Given the description of an element on the screen output the (x, y) to click on. 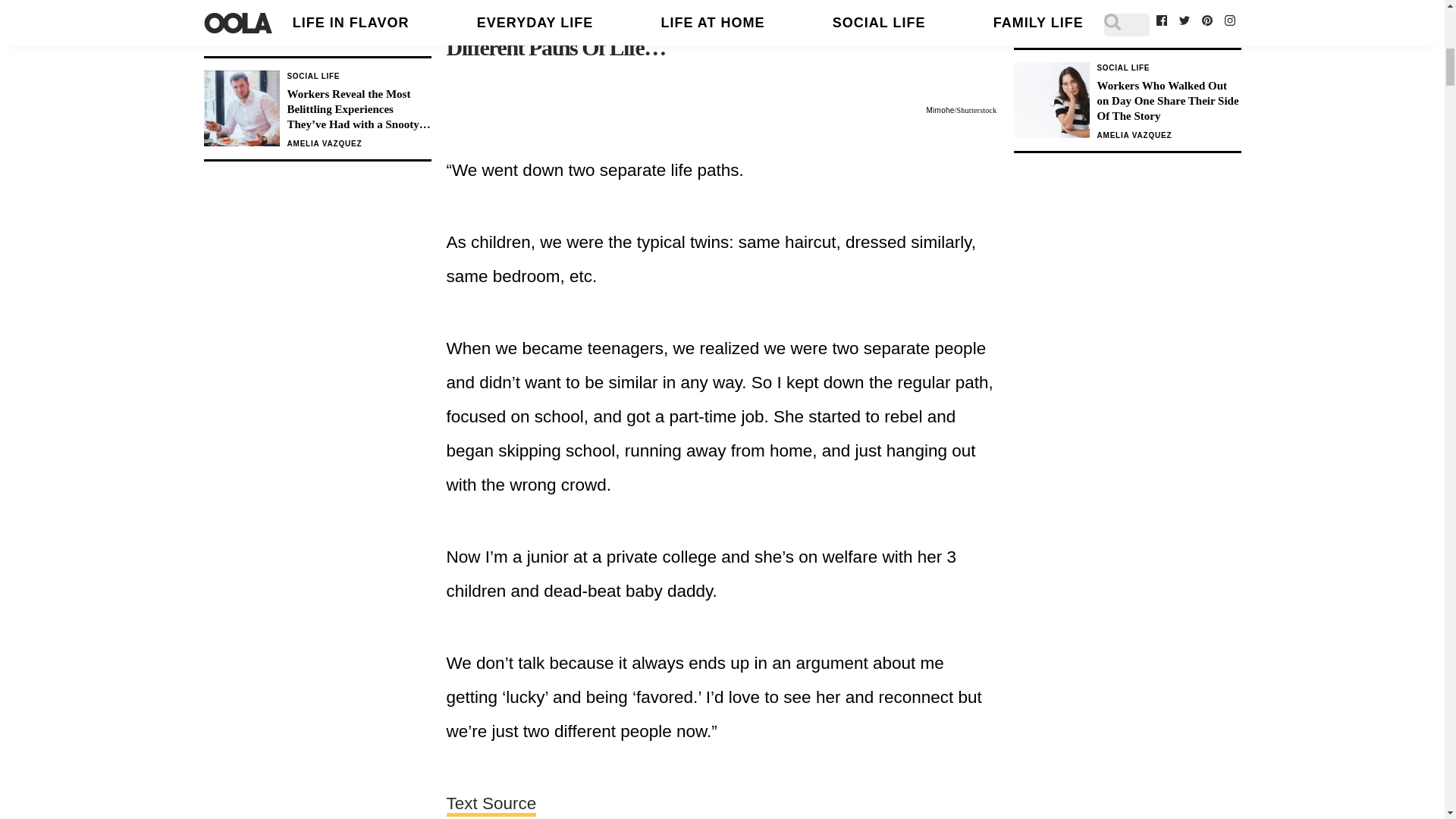
Mimohe (940, 110)
Text Source (490, 804)
Social Life (1123, 67)
